Given the description of an element on the screen output the (x, y) to click on. 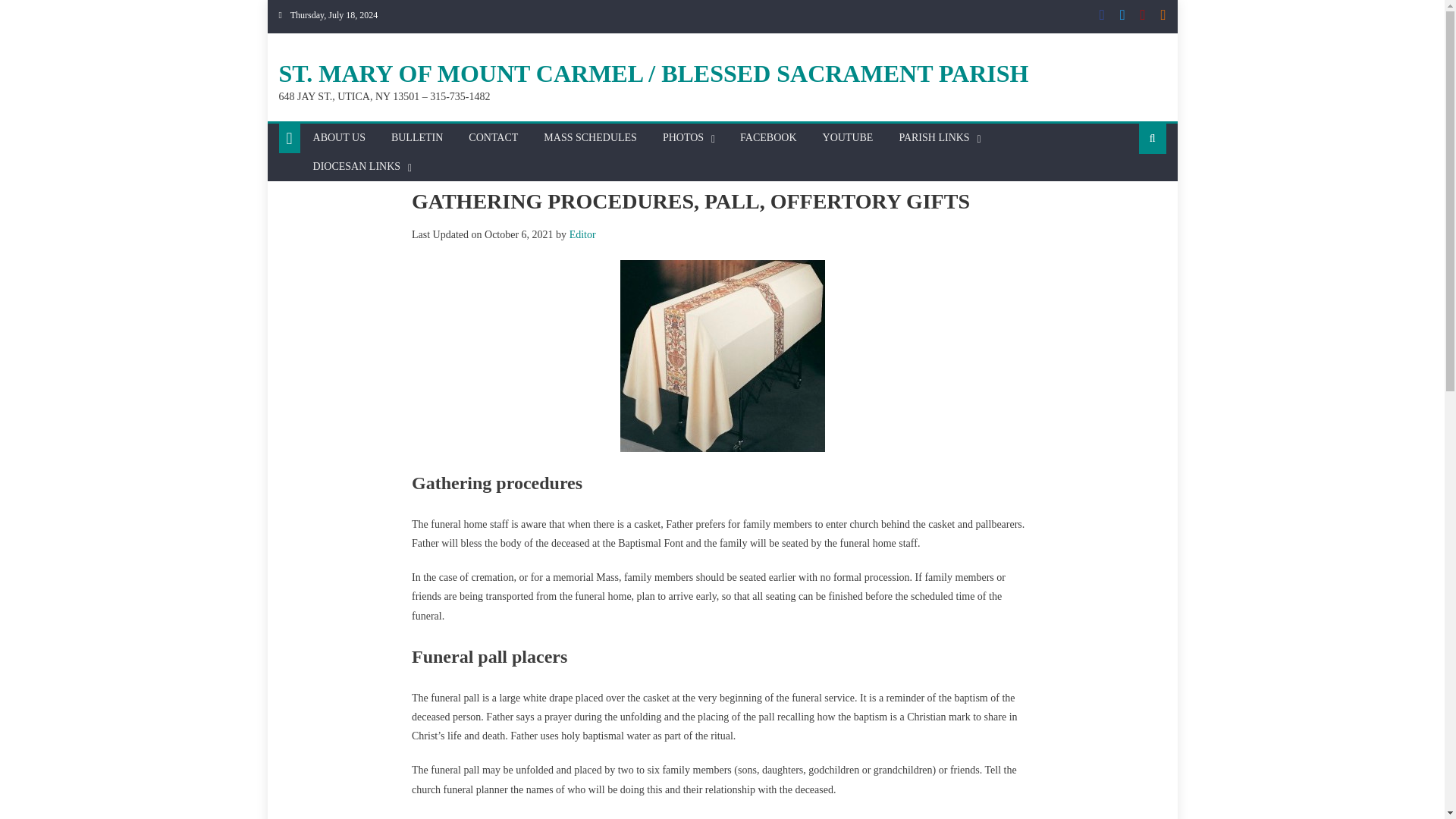
BULLETIN (417, 137)
FACEBOOK (768, 137)
PARISH LINKS (932, 137)
MASS SCHEDULES (589, 137)
PHOTOS (682, 137)
ABOUT US (339, 137)
CONTACT (493, 137)
YOUTUBE (847, 137)
